Given the description of an element on the screen output the (x, y) to click on. 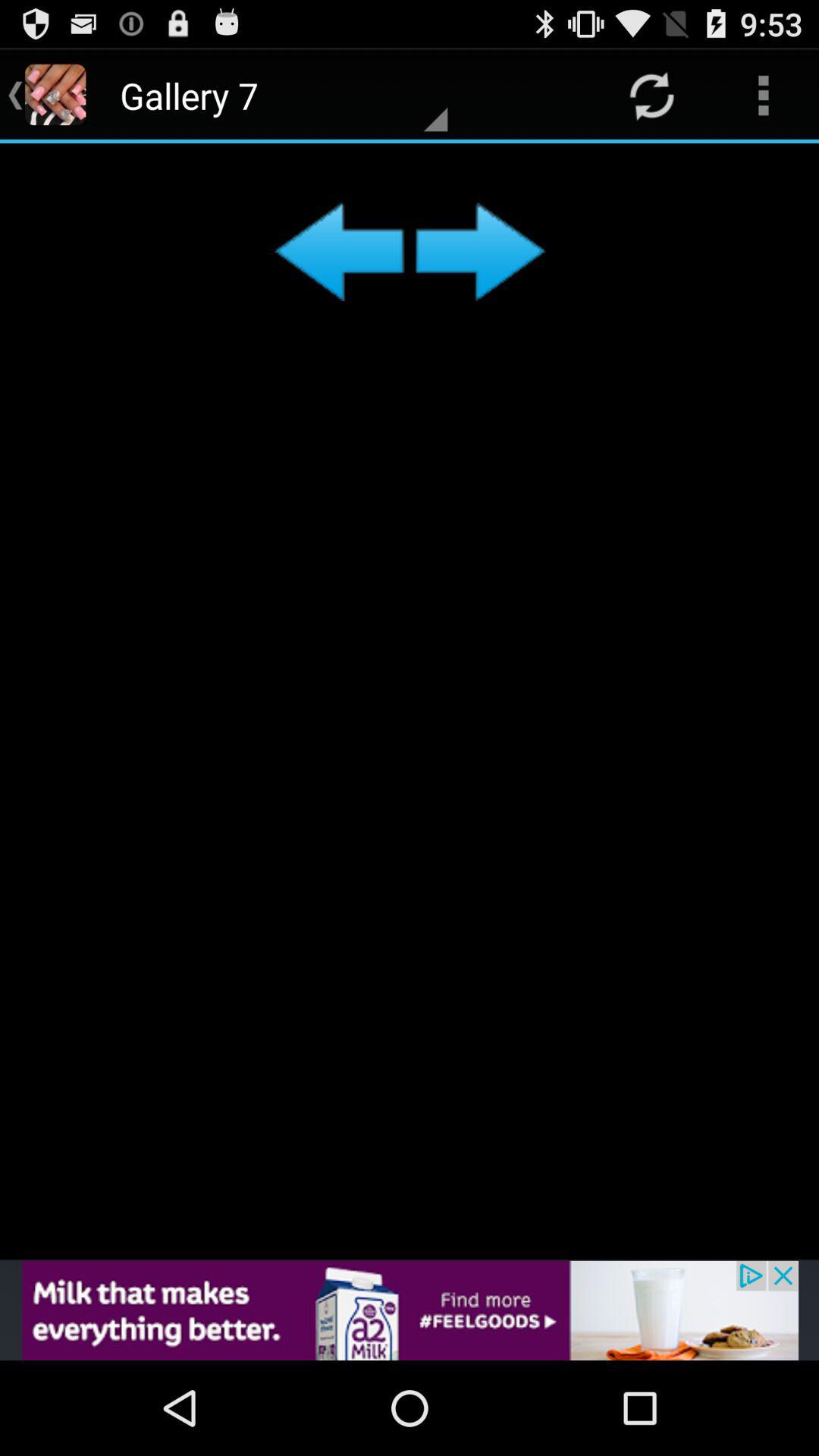
open advertisement (409, 1310)
